Given the description of an element on the screen output the (x, y) to click on. 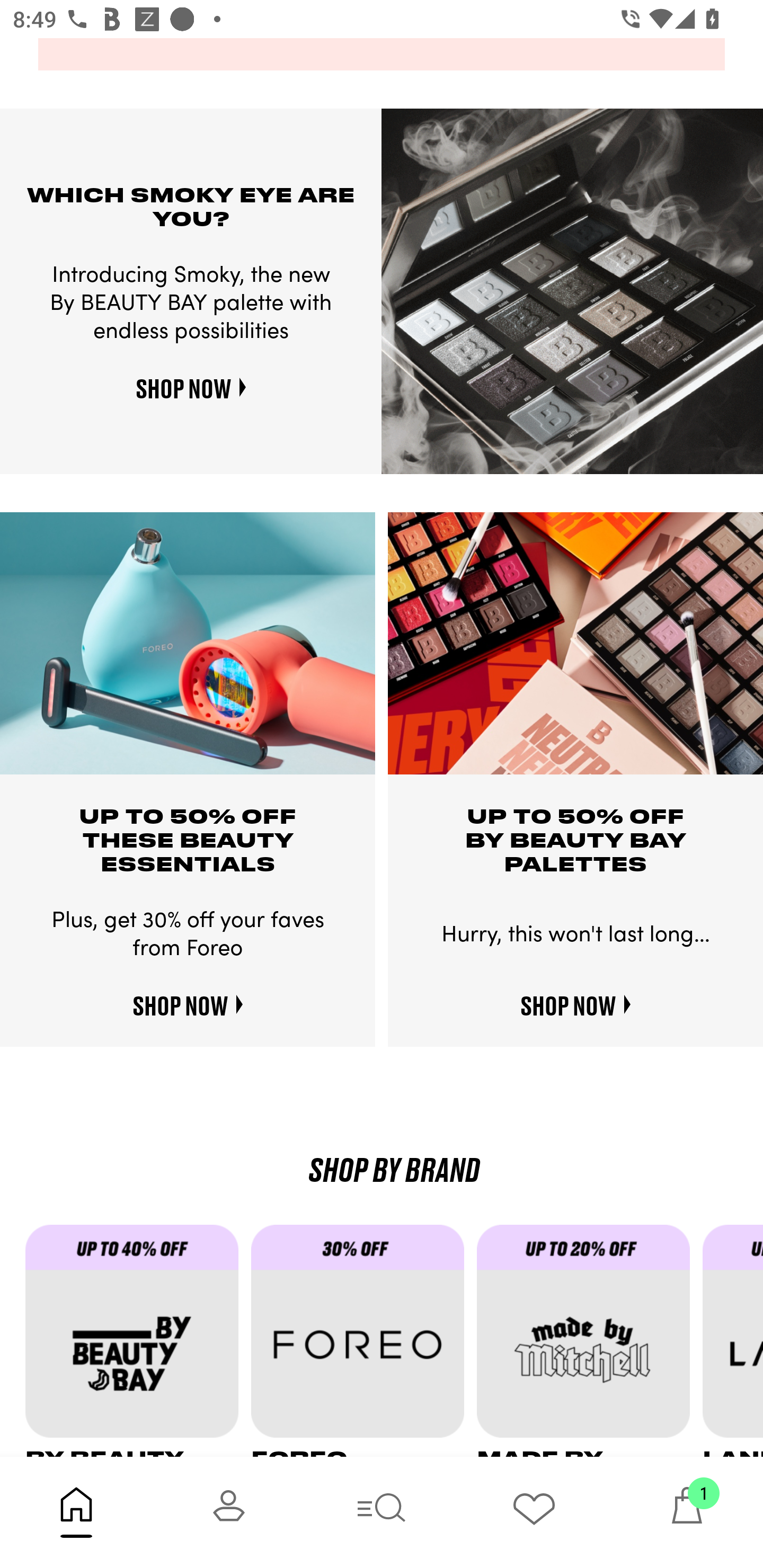
BY BEAUTY BAY (138, 1340)
FOREO (363, 1340)
MADE BY MITCHELL (589, 1340)
1 (686, 1512)
